Given the description of an element on the screen output the (x, y) to click on. 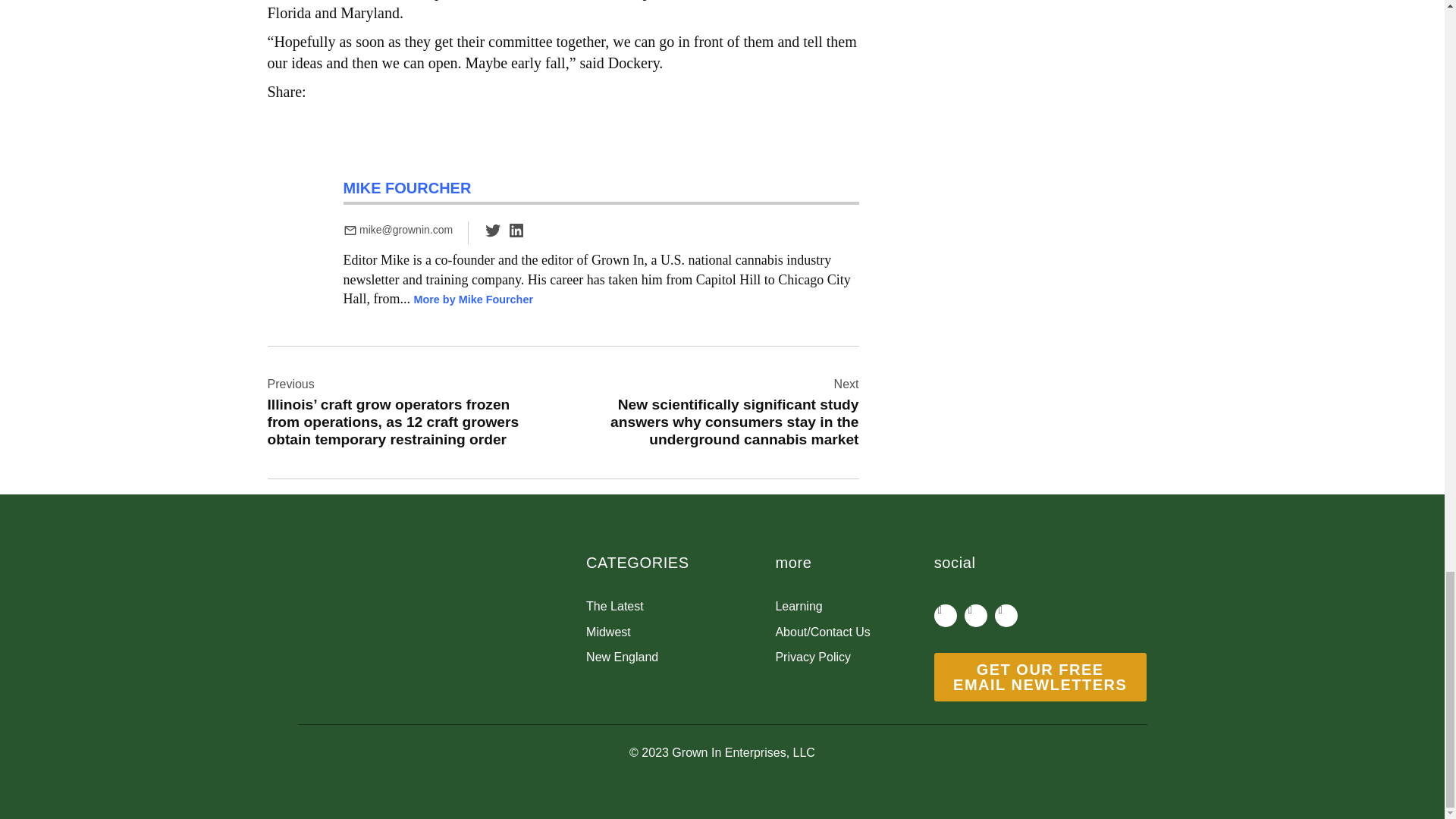
twitter (492, 235)
Privacy Policy (853, 657)
GET OUR FREE EMAIL NEWLETTERS (1040, 676)
More by Mike Fourcher (472, 299)
The Latest (680, 606)
linkedin (515, 235)
linkedin (515, 230)
Midwest (680, 632)
New England (680, 657)
twitter (492, 230)
